Given the description of an element on the screen output the (x, y) to click on. 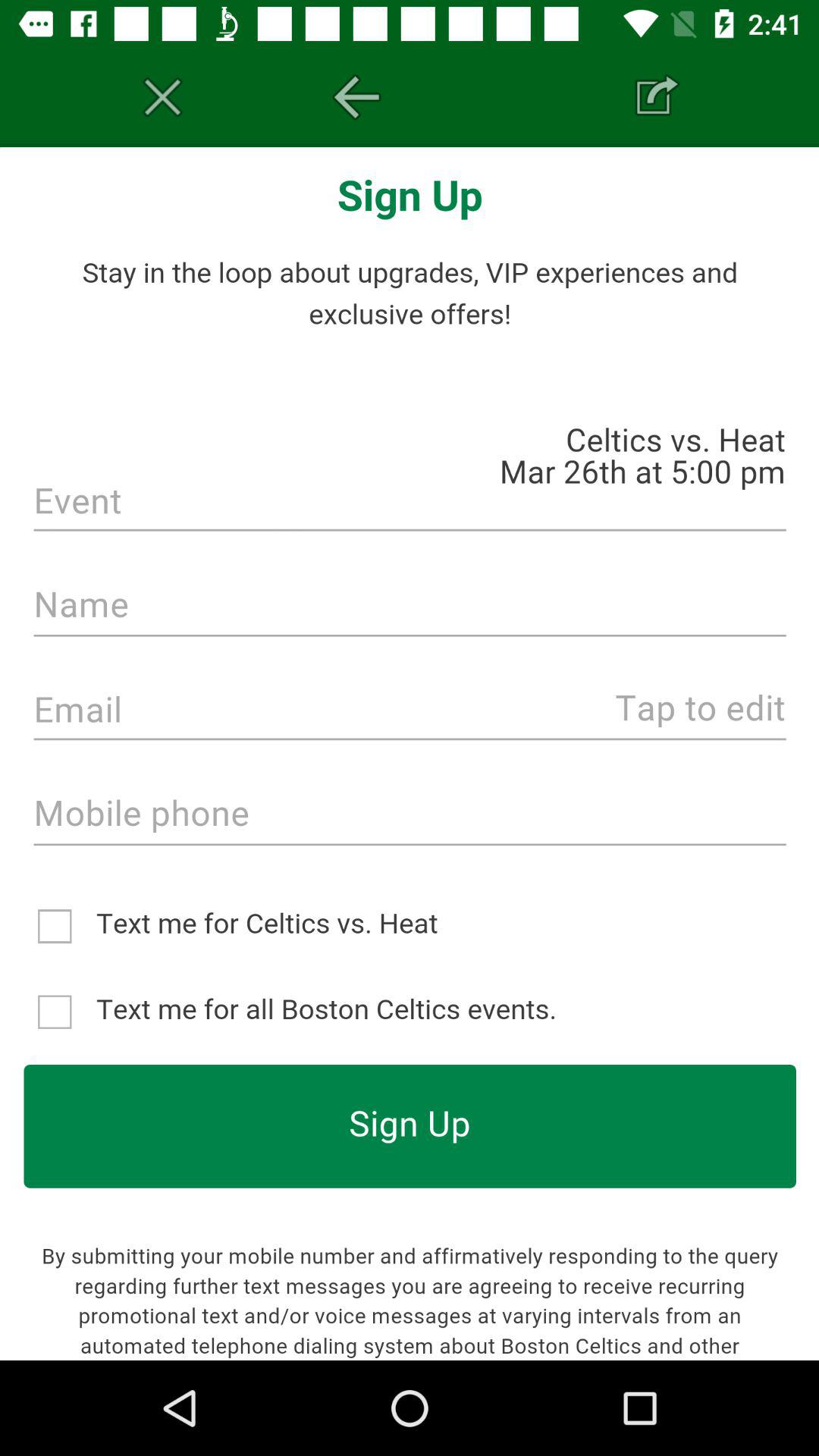
share (656, 97)
